Given the description of an element on the screen output the (x, y) to click on. 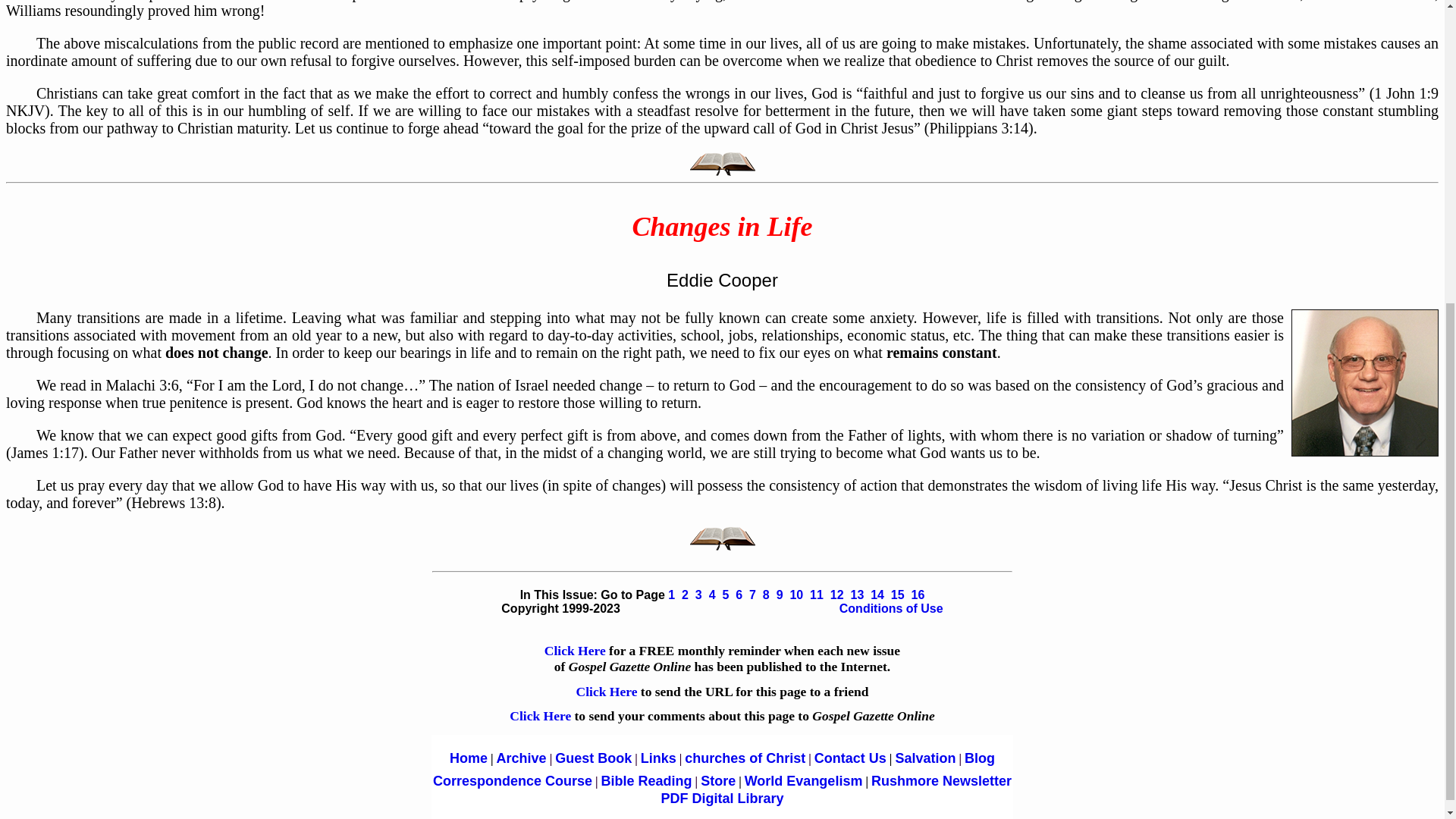
15 (897, 594)
10 (796, 594)
12 (836, 594)
14 (876, 594)
16 (917, 594)
11 (816, 594)
Click Here (608, 691)
Conditions of Use (891, 608)
Click Here (574, 650)
13 (856, 594)
